Given the description of an element on the screen output the (x, y) to click on. 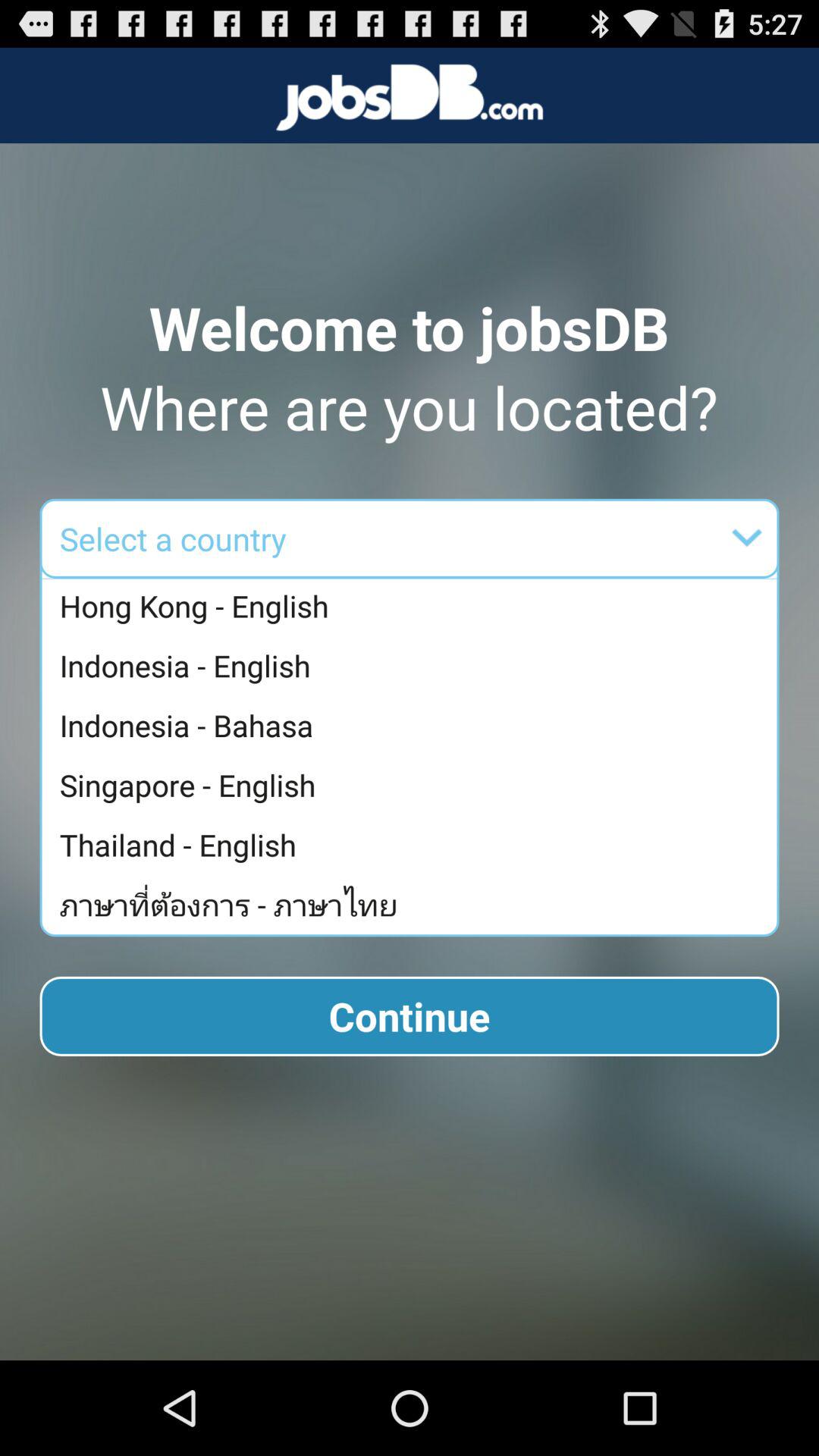
open the item below where are you app (506, 538)
